Given the description of an element on the screen output the (x, y) to click on. 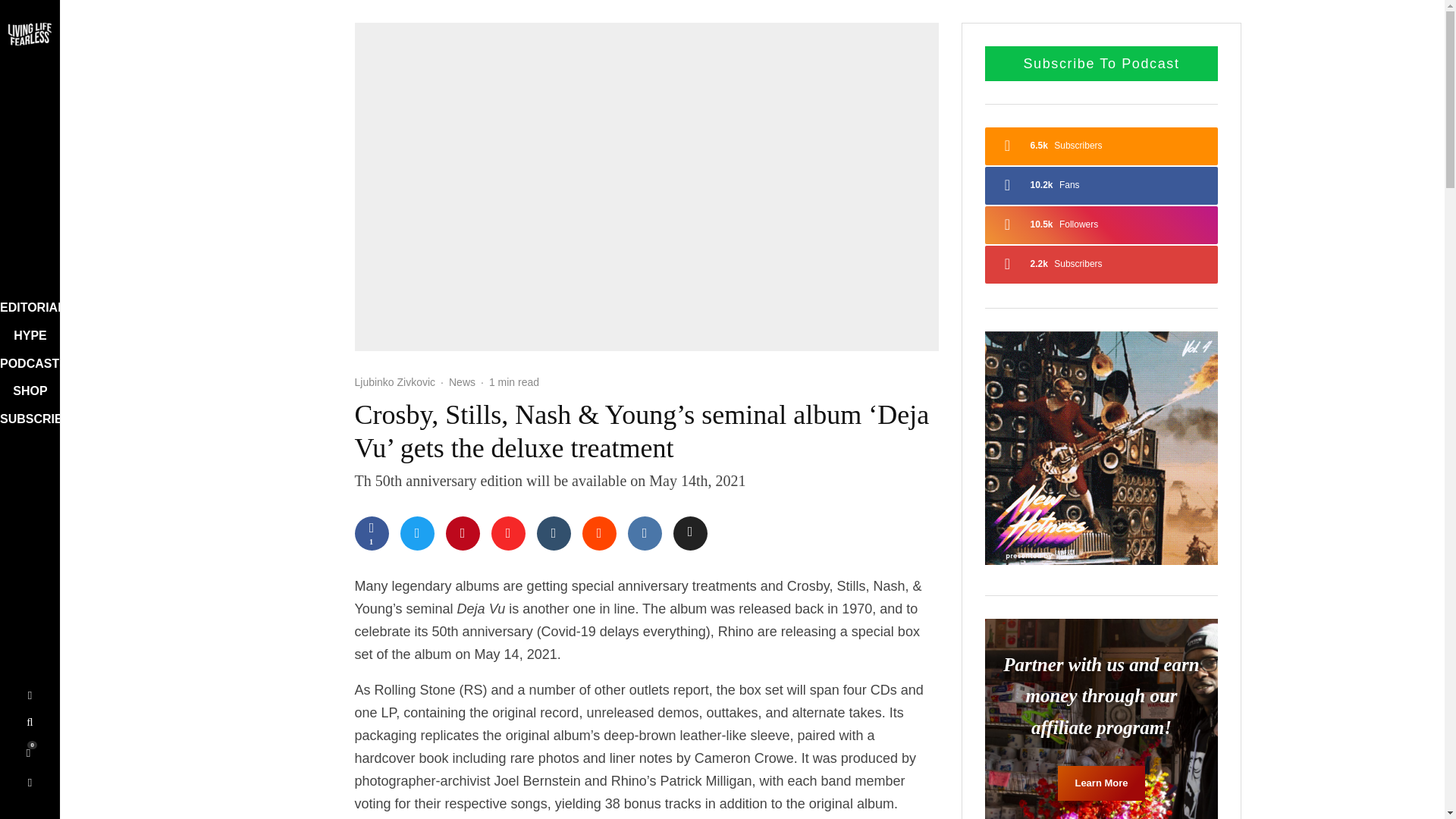
SUBSCRIBE! (27, 419)
PODCASTS (25, 363)
HYPE (24, 335)
News (462, 382)
SHOP (26, 391)
1 (371, 533)
Ljubinko Zivkovic (395, 381)
EDITORIAL (24, 308)
